Given the description of an element on the screen output the (x, y) to click on. 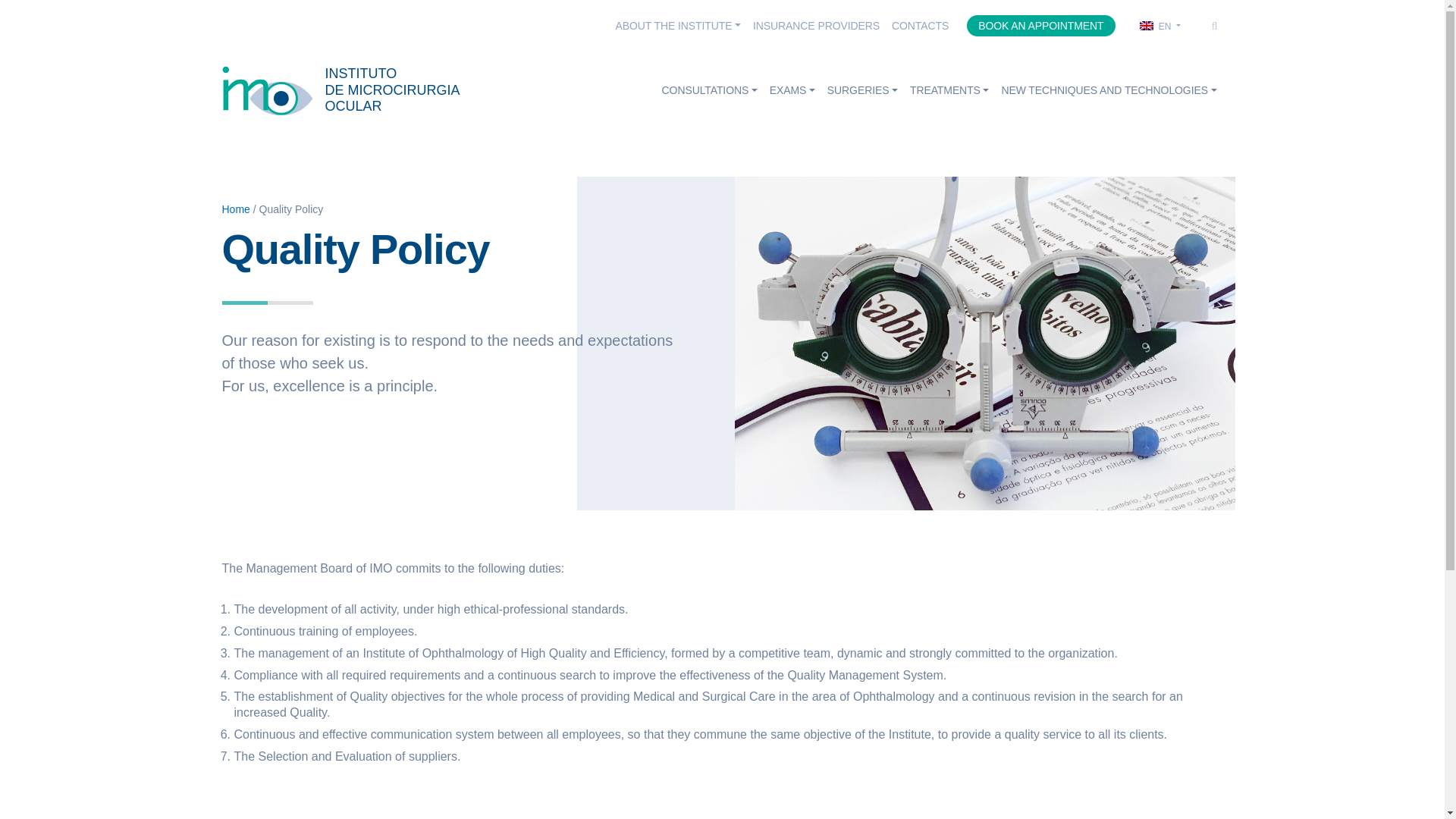
EN (1159, 26)
EXAMS (791, 89)
ABOUT THE INSTITUTE (679, 25)
BOOK AN APPOINTMENT (1040, 25)
Quality Policy (340, 91)
INSURANCE PROVIDERS (920, 25)
CONSULTATIONS (815, 25)
